Given the description of an element on the screen output the (x, y) to click on. 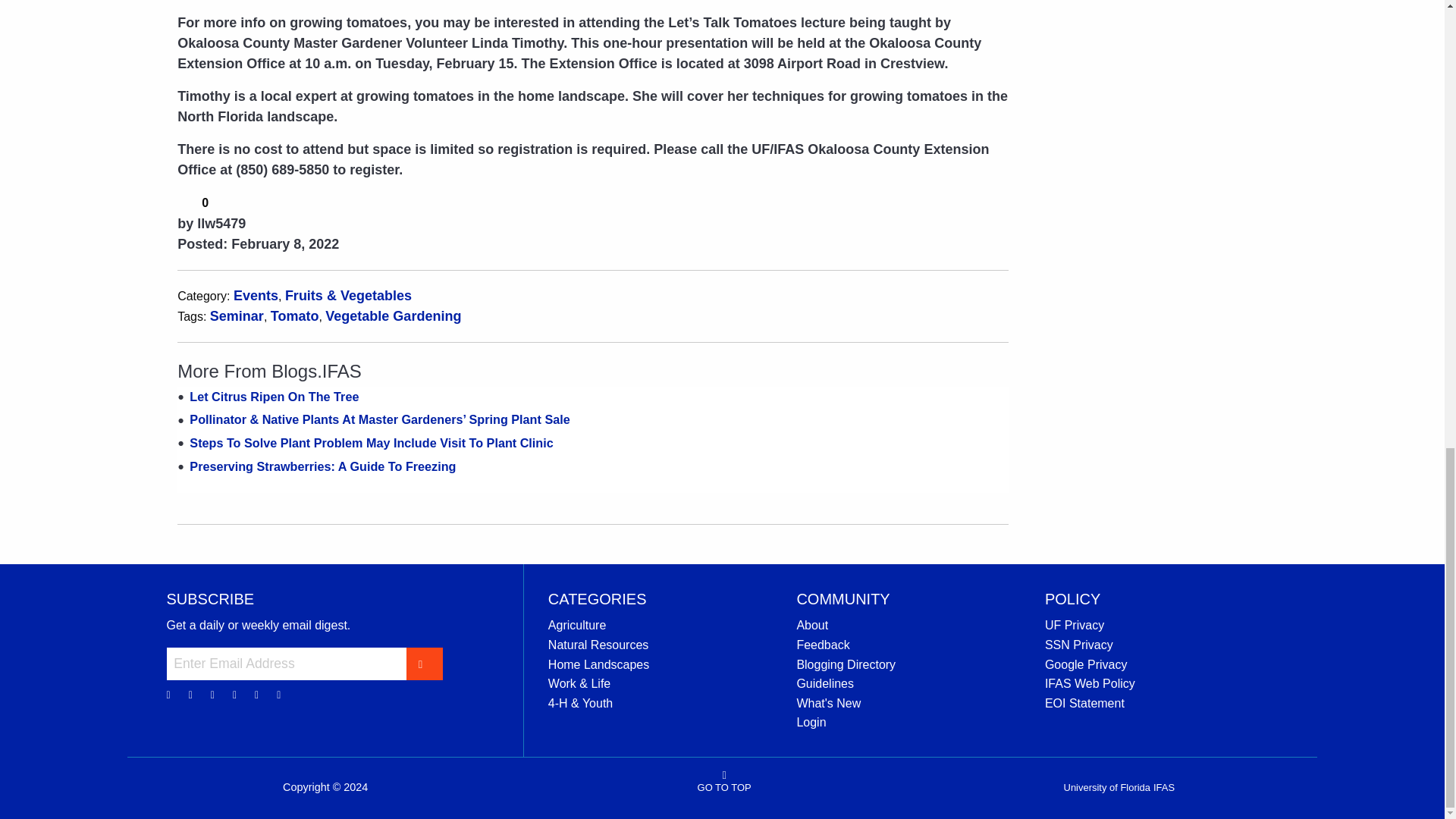
Enter Email Address (287, 663)
I found this post helpful (186, 201)
